Given the description of an element on the screen output the (x, y) to click on. 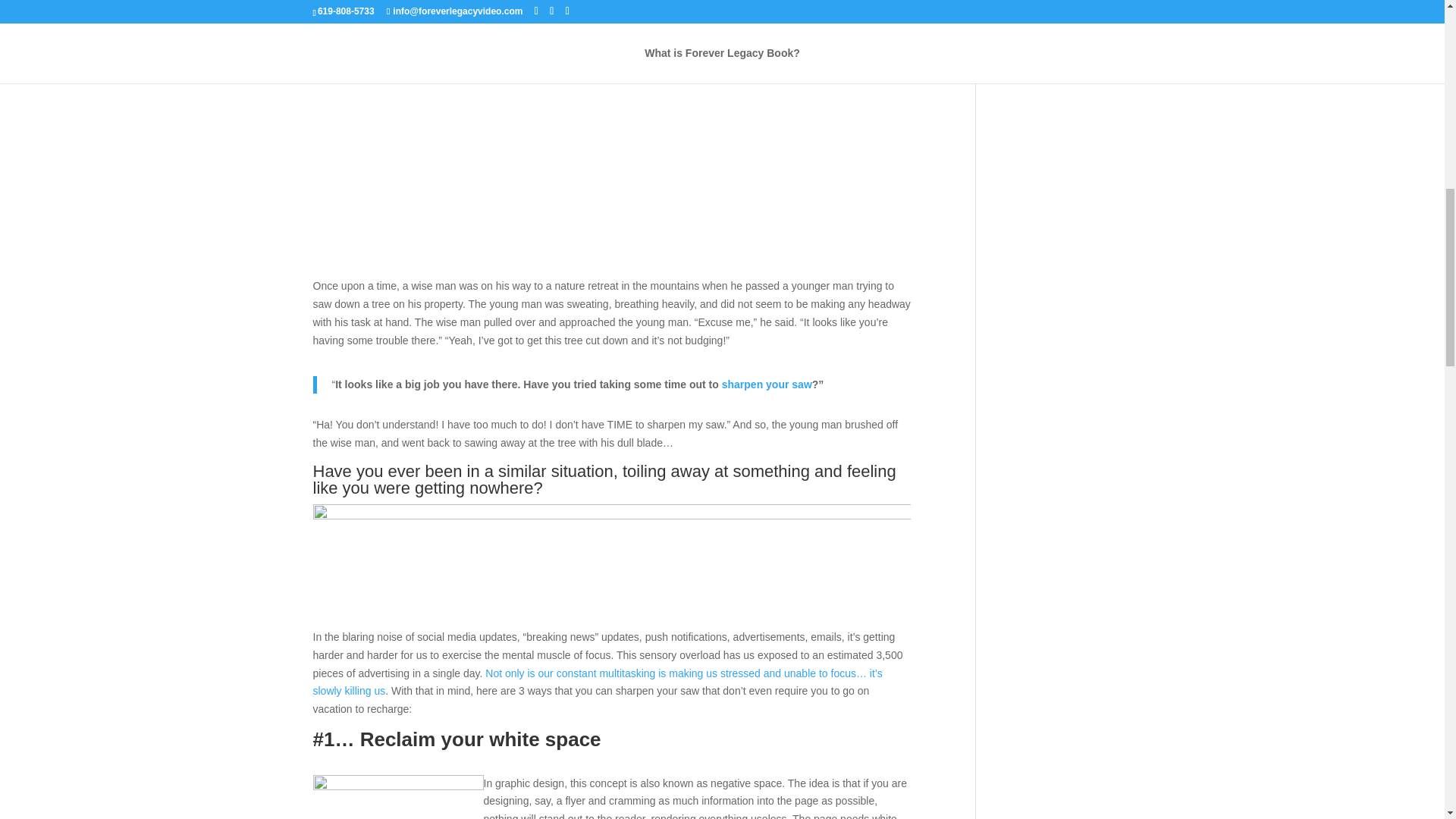
sharpen your saw (767, 384)
